Given the description of an element on the screen output the (x, y) to click on. 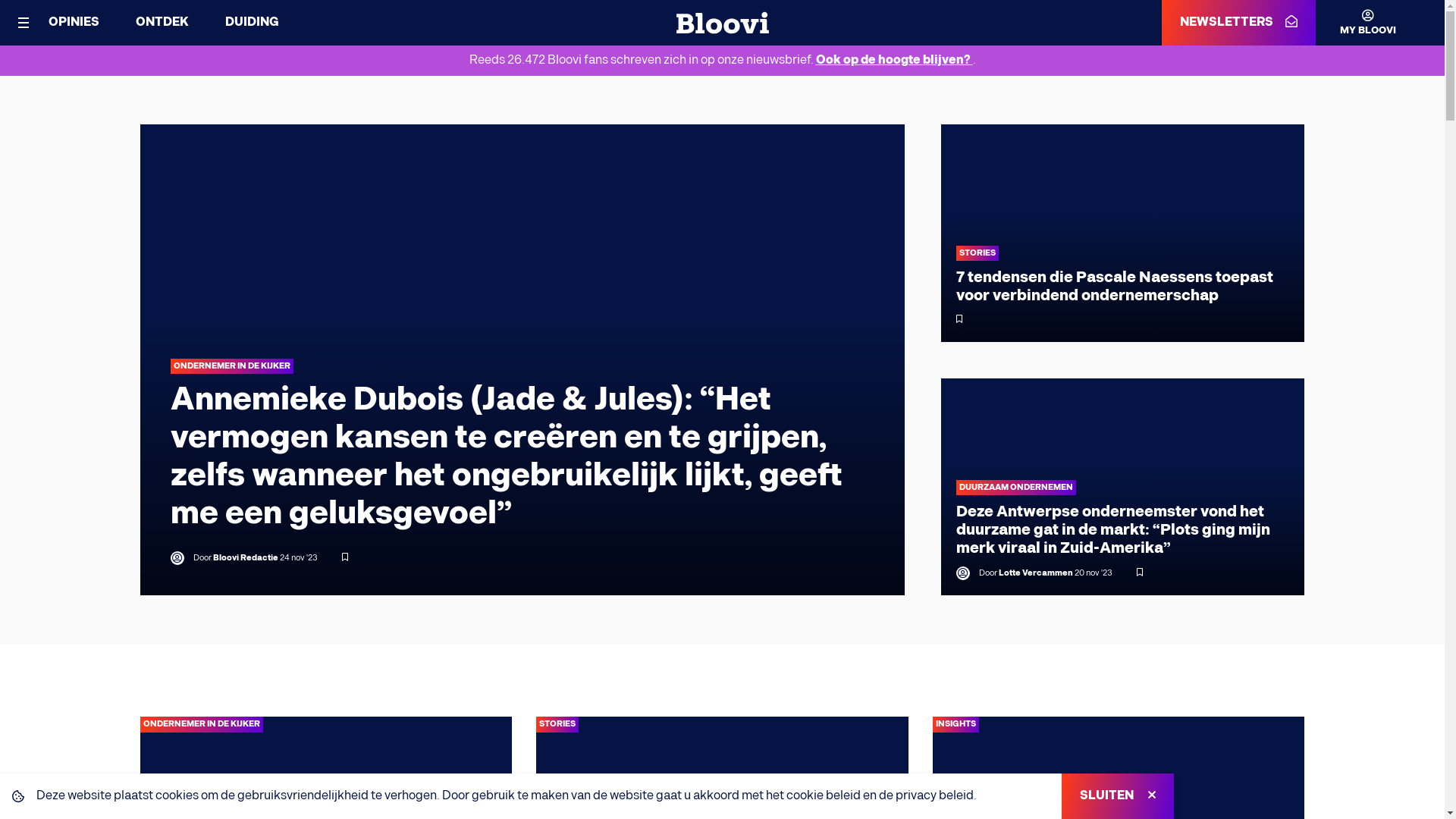
Ook op de hoogte blijven? Element type: text (893, 60)
privacy beleid Element type: text (934, 795)
Lotte Vercammen Element type: text (1034, 573)
ONDERNEMER IN DE KIJKER Element type: text (230, 366)
cookie beleid Element type: text (823, 795)
ONDERNEMER IN DE KIJKER Element type: text (200, 724)
DUIDING Element type: text (251, 22)
NEWSLETTERS Element type: text (1238, 22)
INSIGHTS Element type: text (955, 724)
STORIES Element type: text (557, 724)
MY BLOOVI Element type: text (1355, 22)
OPINIES Element type: text (73, 22)
DUURZAAM ONDERNEMEN Element type: text (1015, 487)
Bloovi Redactie Element type: text (244, 558)
STORIES Element type: text (976, 253)
ONTDEK Element type: text (161, 22)
